Given the description of an element on the screen output the (x, y) to click on. 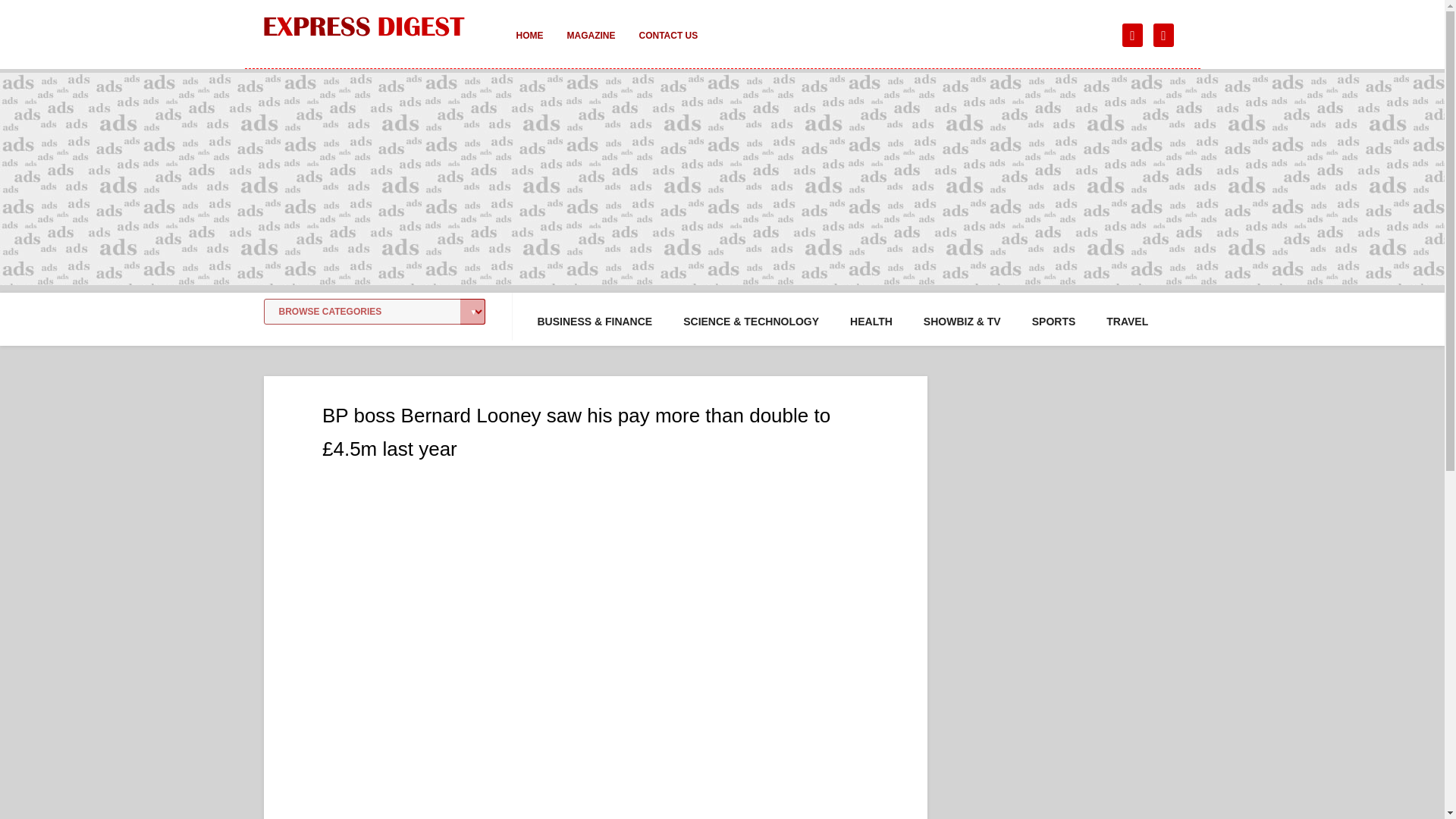
SPORTS (1053, 321)
CONTACT US (667, 45)
TRAVEL (1127, 321)
HEALTH (871, 321)
MAGAZINE (590, 45)
